Given the description of an element on the screen output the (x, y) to click on. 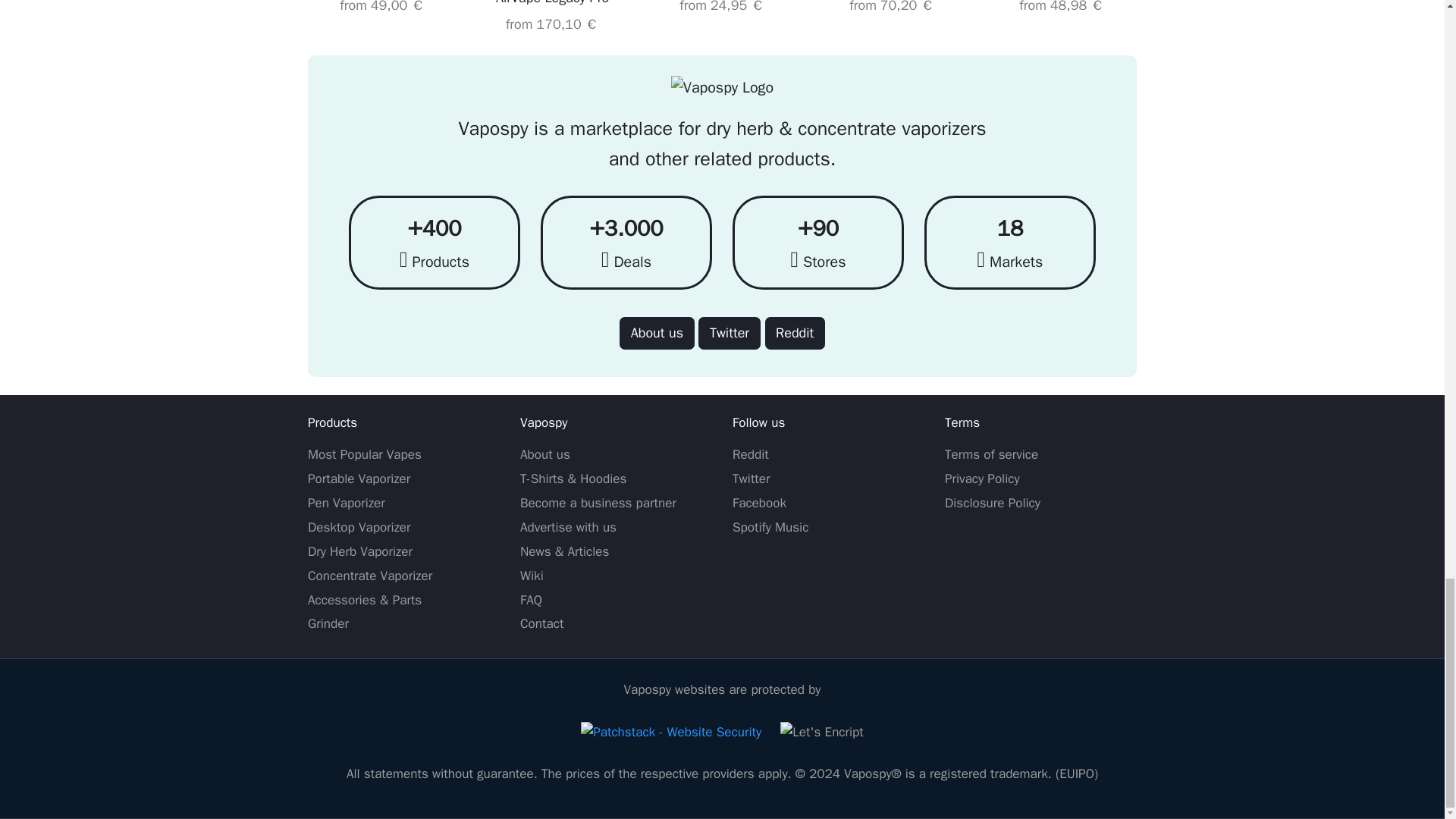
Yocan Evolve D-Plus (1062, 7)
Eyce PV1 (382, 7)
PAX Era Pro Vaporizer (721, 7)
